Given the description of an element on the screen output the (x, y) to click on. 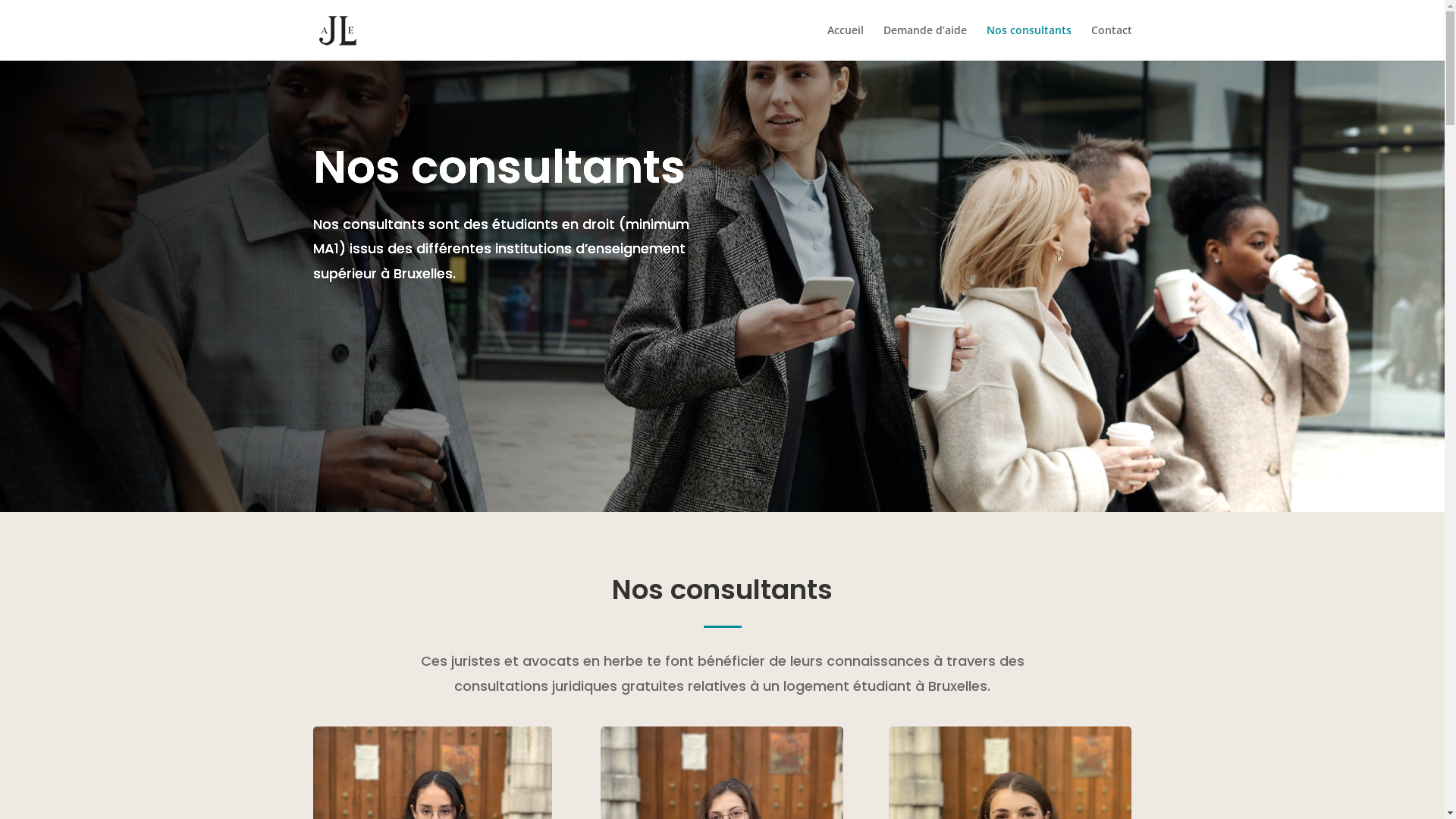
Contact Element type: text (1110, 42)
Accueil Element type: text (844, 42)
Nos consultants Element type: text (1027, 42)
